Given the description of an element on the screen output the (x, y) to click on. 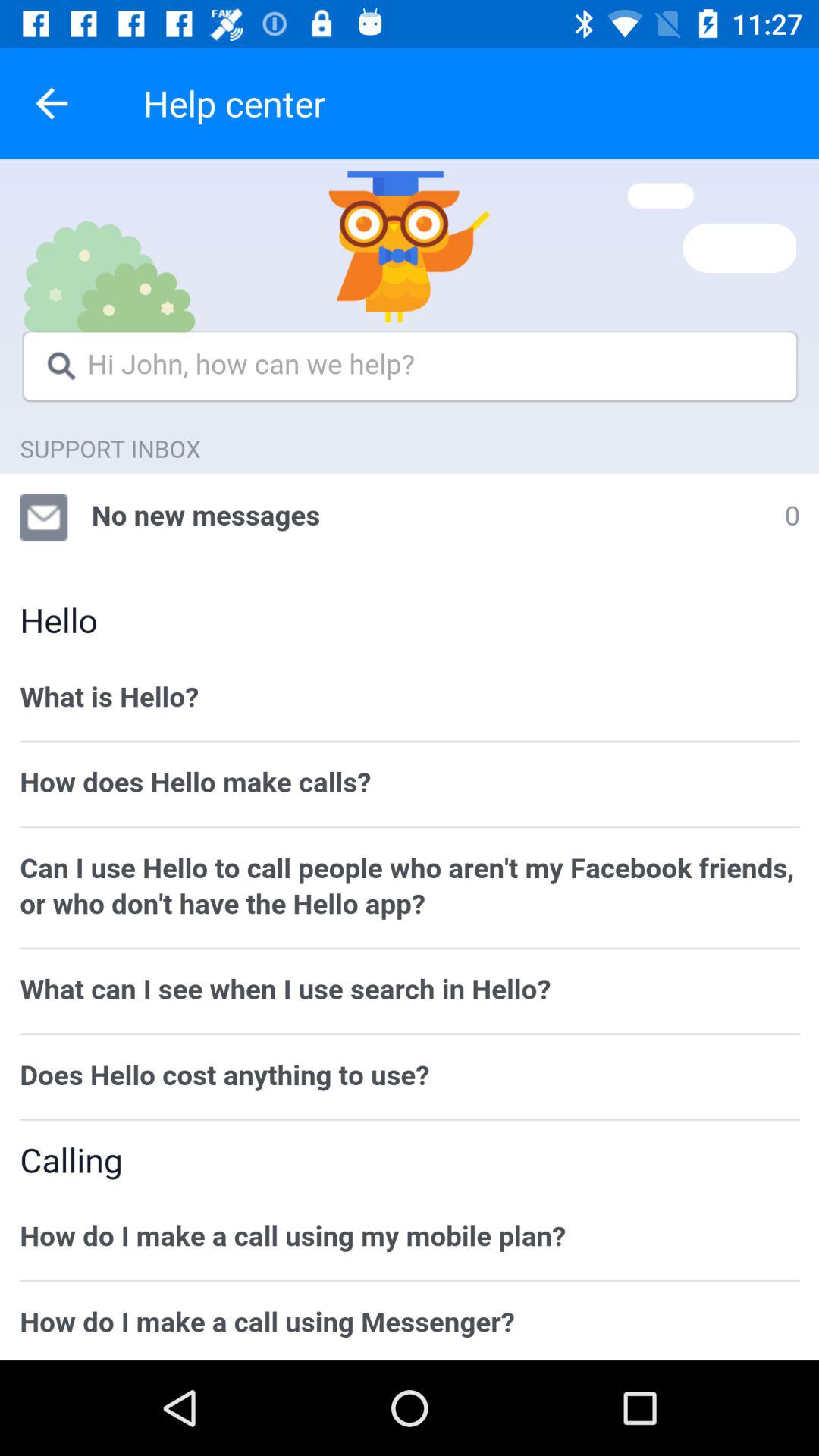
read message (409, 759)
